Given the description of an element on the screen output the (x, y) to click on. 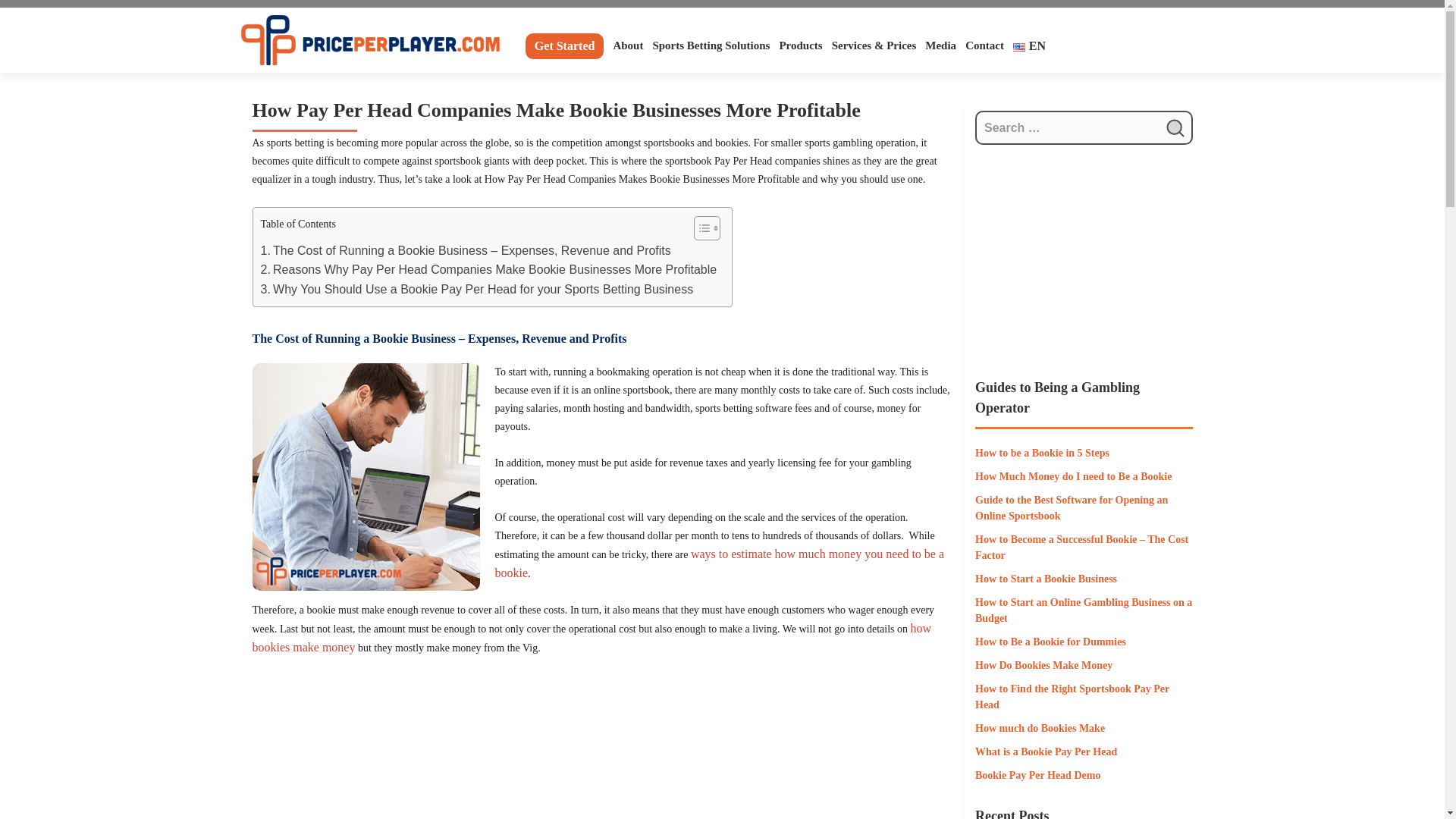
Products (800, 45)
Sports Betting Solutions (711, 45)
Get Started (564, 45)
How Do Bookies Make Money (601, 747)
Media (940, 45)
About (627, 45)
Learn About PricePerPlayer.com (627, 45)
